Given the description of an element on the screen output the (x, y) to click on. 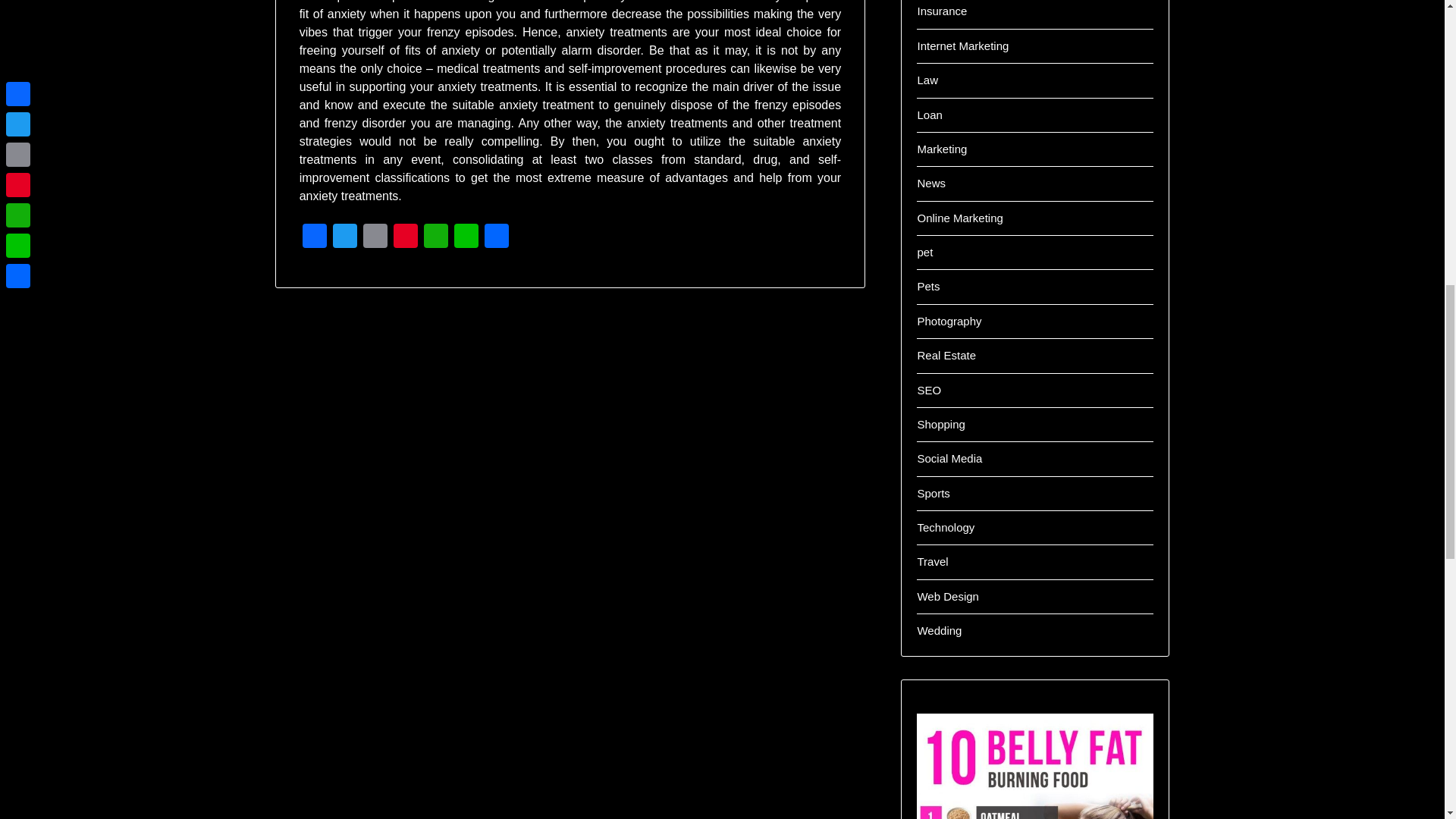
Email (374, 237)
Internet Marketing (963, 45)
WhatsApp (435, 237)
Online Marketing (960, 217)
Line (466, 237)
Pinterest (405, 237)
Pinterest (405, 237)
Facebook (314, 237)
Insurance (941, 10)
Share (496, 237)
Loan (929, 114)
WhatsApp (435, 237)
Marketing (941, 148)
Twitter (344, 237)
News (930, 182)
